Given the description of an element on the screen output the (x, y) to click on. 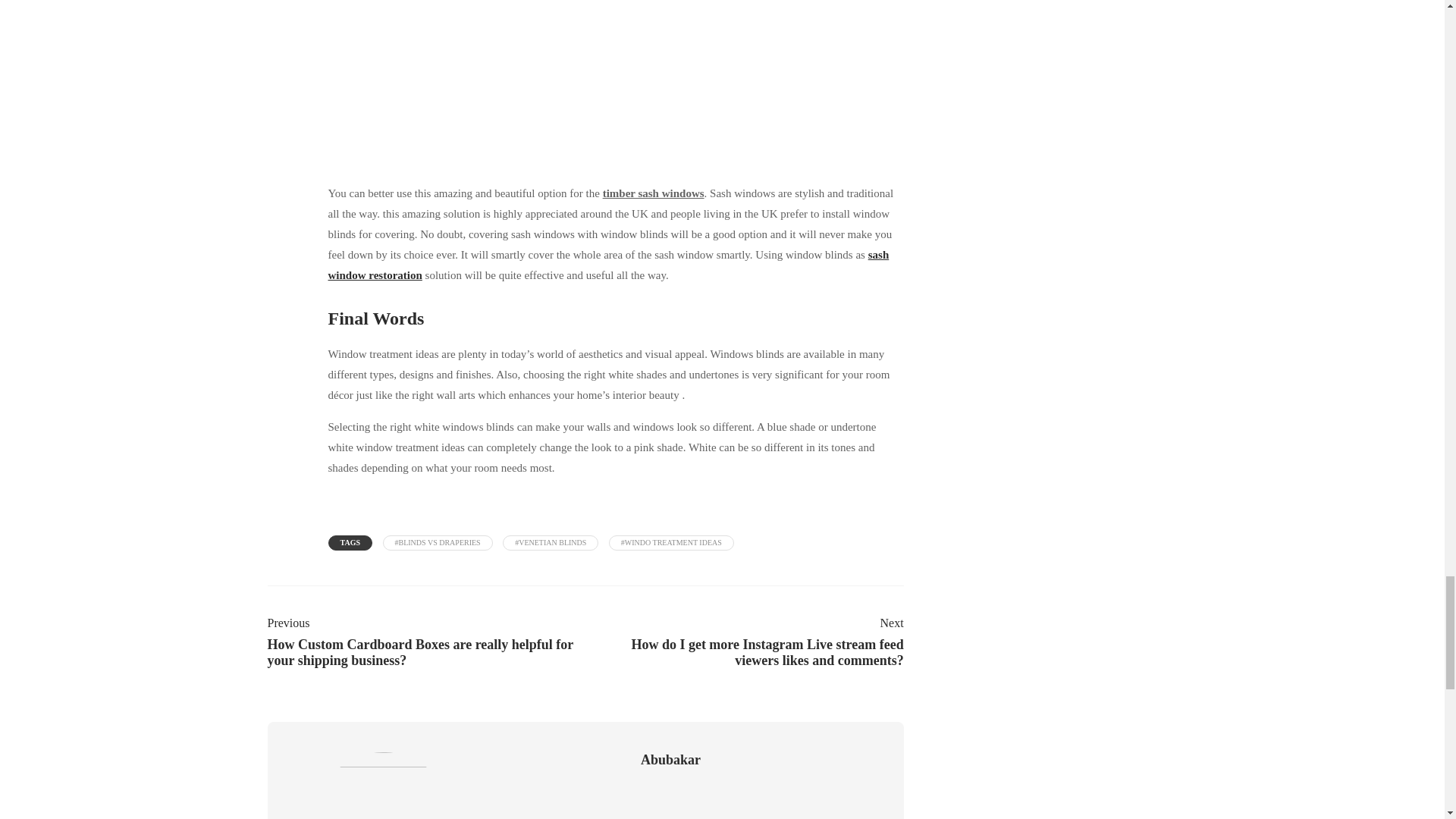
Abubakar (670, 760)
sash window restoration (607, 264)
TAGS (349, 542)
